Given the description of an element on the screen output the (x, y) to click on. 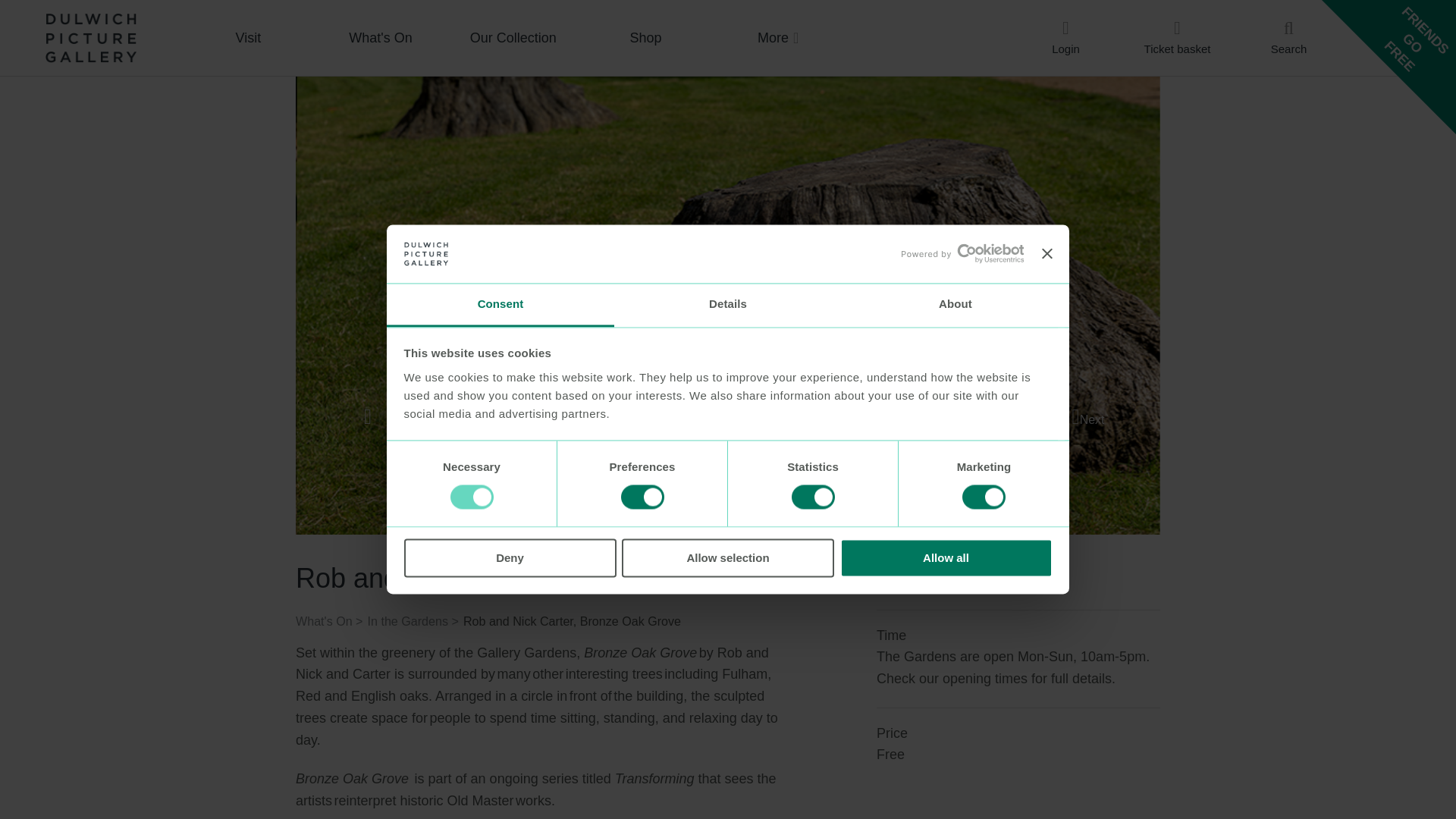
Consent (500, 304)
Details (727, 304)
About (954, 304)
